Given the description of an element on the screen output the (x, y) to click on. 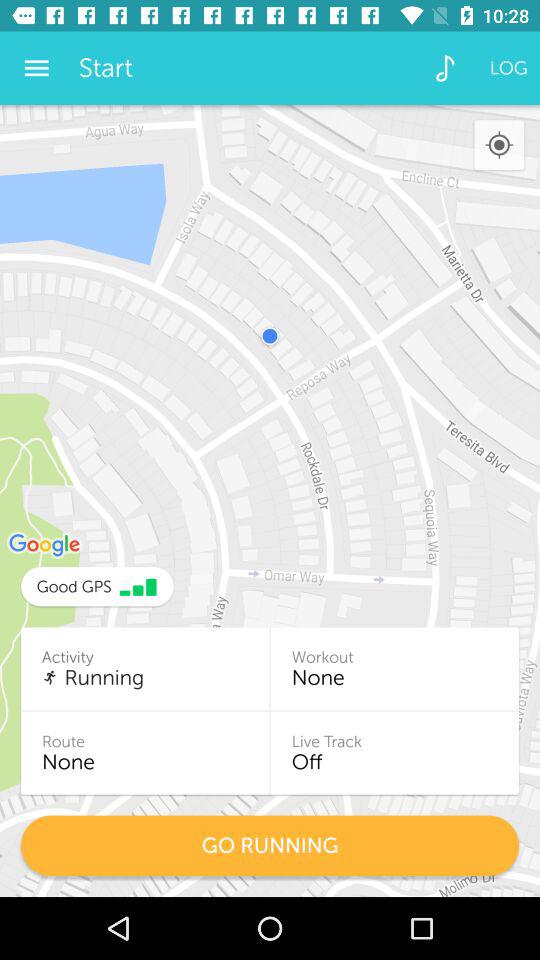
press the app next to the start app (36, 68)
